Given the description of an element on the screen output the (x, y) to click on. 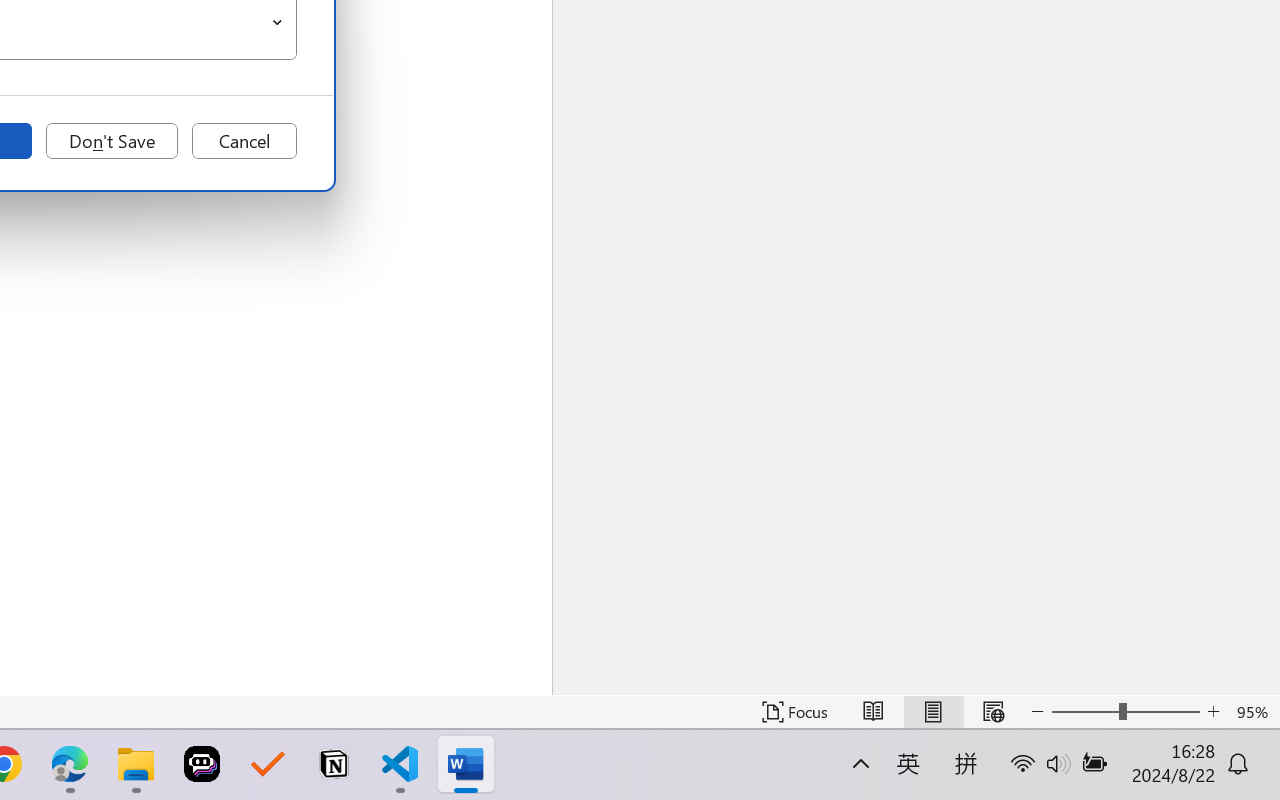
Don't Save (111, 141)
Zoom 95% (1253, 712)
